Given the description of an element on the screen output the (x, y) to click on. 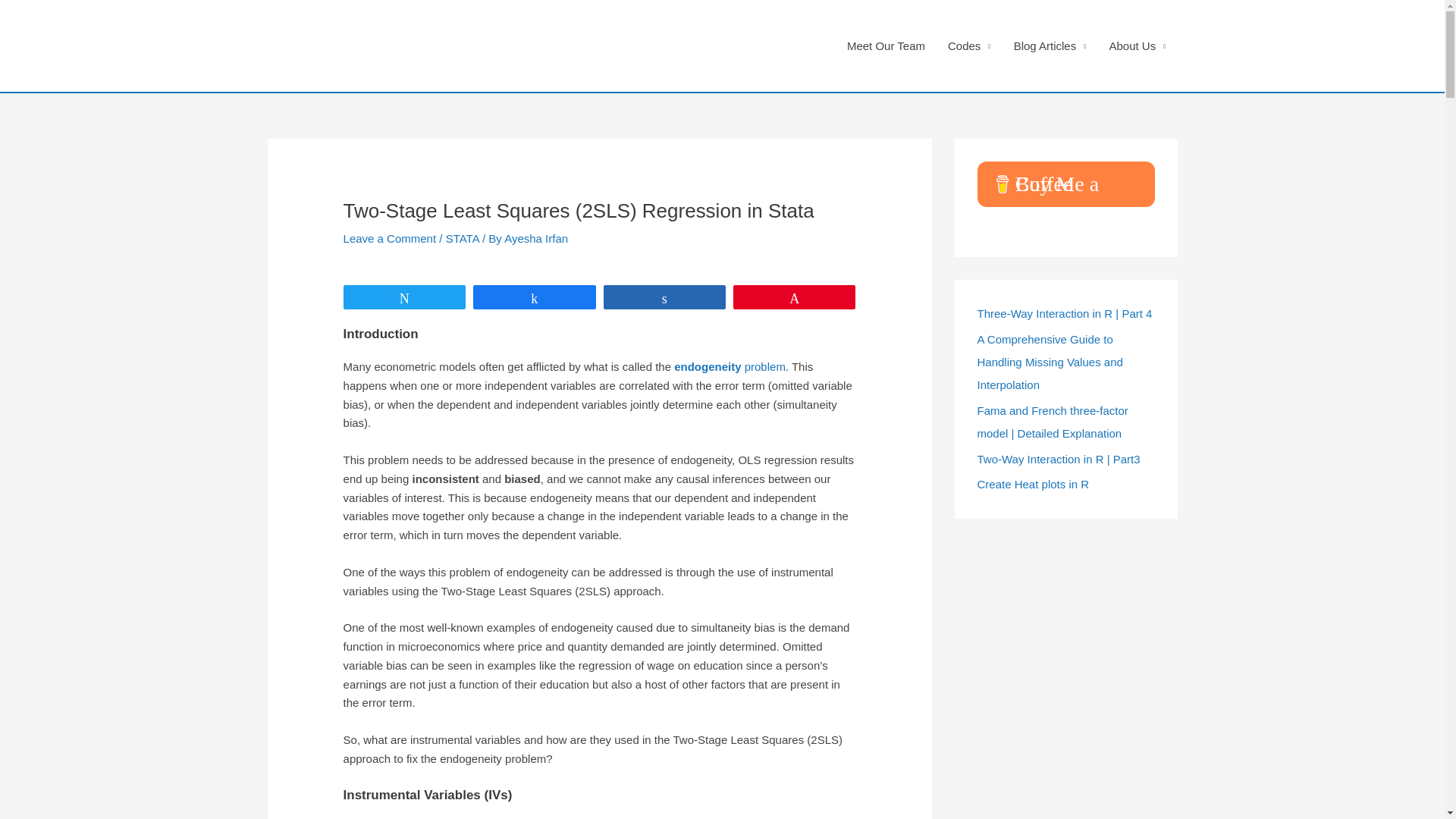
endogeneity problem (730, 366)
Ayesha Irfan (535, 237)
Blog Articles (1050, 45)
View all posts by Ayesha Irfan (535, 237)
Leave a Comment (389, 237)
Meet Our Team (885, 45)
The Data Hall (373, 45)
STATA (462, 237)
